Given the description of an element on the screen output the (x, y) to click on. 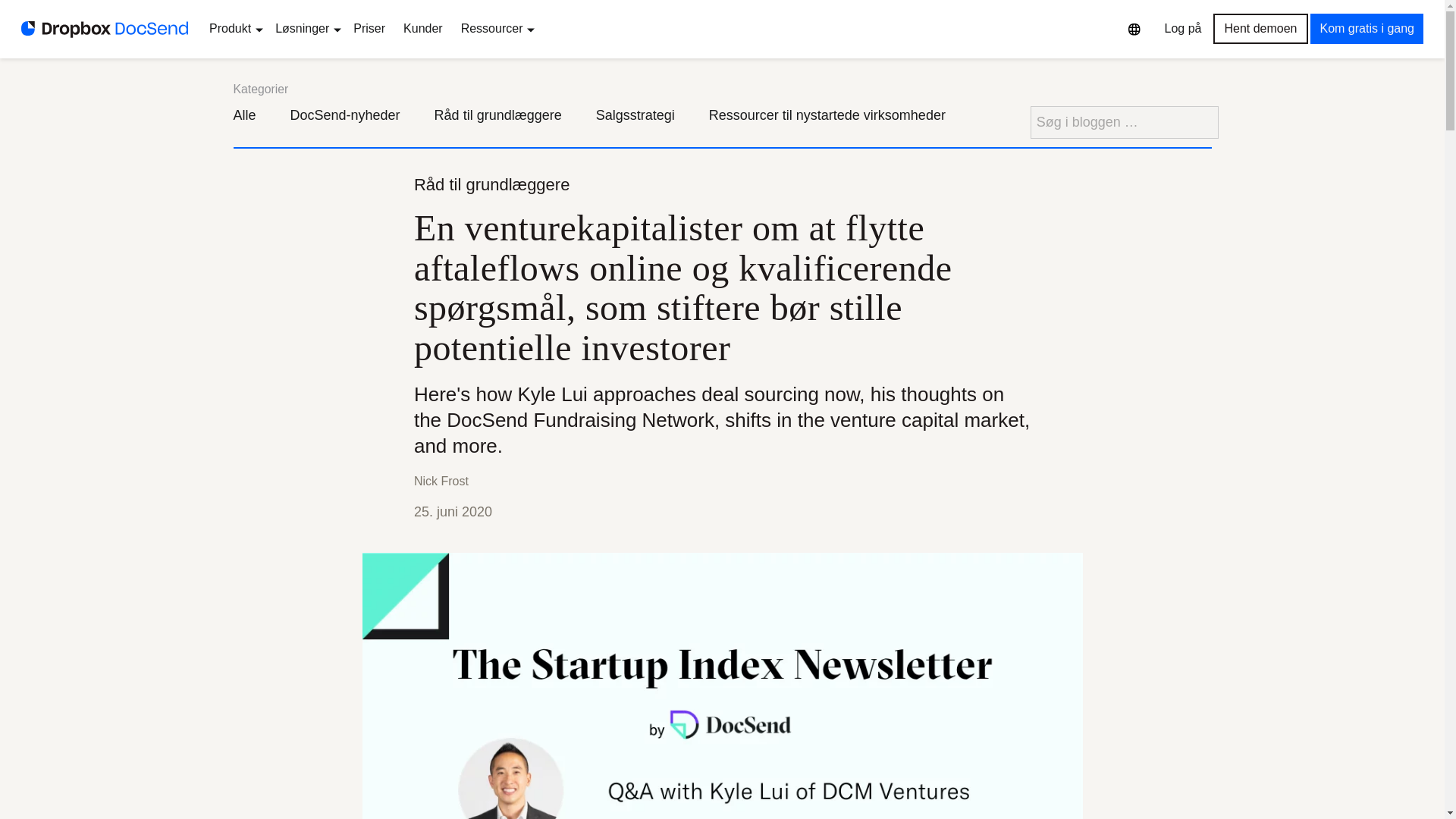
Produkt (233, 28)
Kunder (422, 28)
Priser (368, 28)
Ressourcer (494, 28)
